Given the description of an element on the screen output the (x, y) to click on. 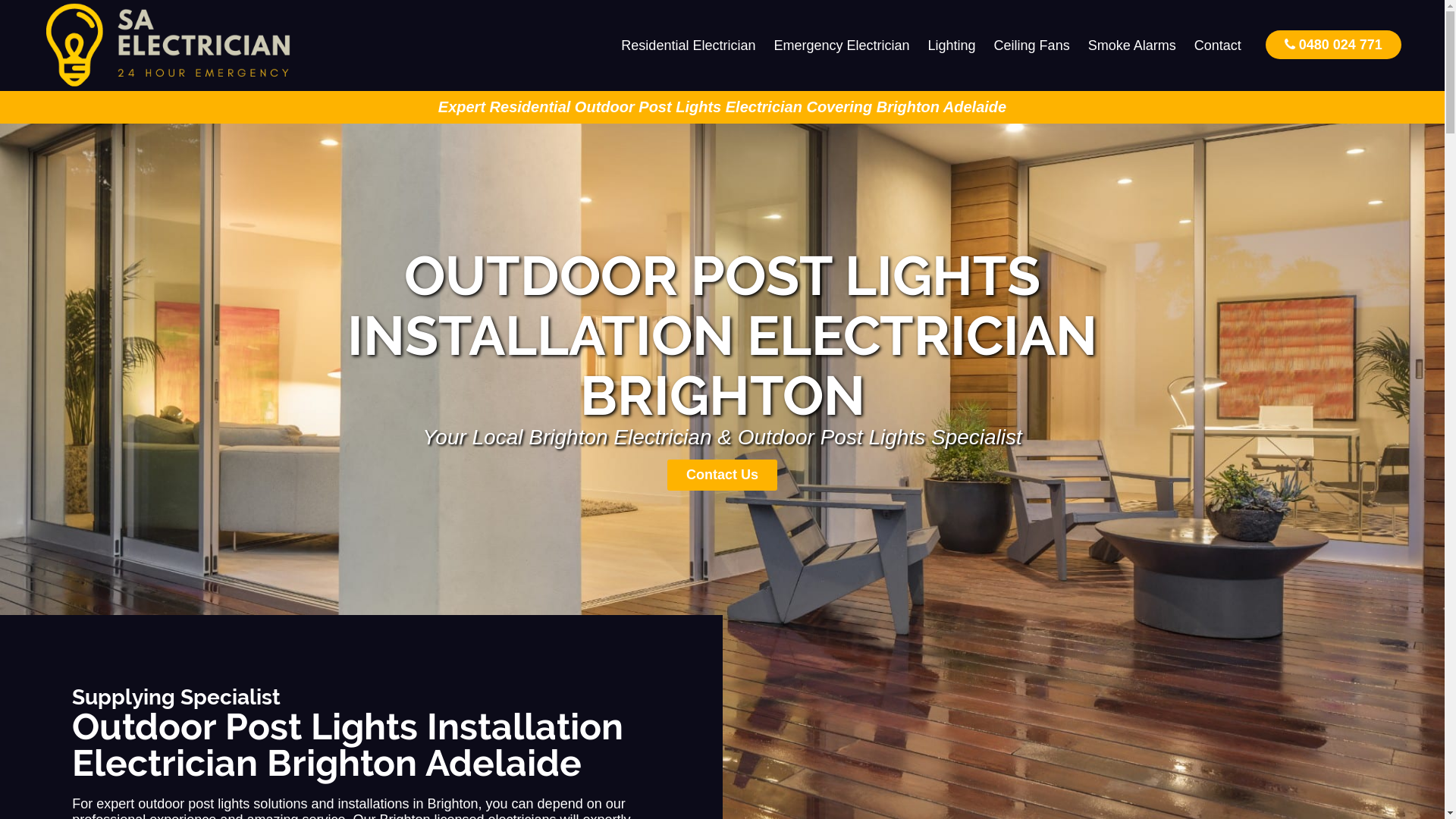
Residential Electrician Element type: text (687, 45)
Ceiling Fans Element type: text (1032, 45)
Emergency Electrician Element type: text (841, 45)
Lighting Element type: text (952, 45)
Smoke Alarms Element type: text (1132, 45)
0480 024 771 Element type: text (1333, 44)
Contact Us Element type: text (722, 474)
Contact Element type: text (1217, 45)
